Given the description of an element on the screen output the (x, y) to click on. 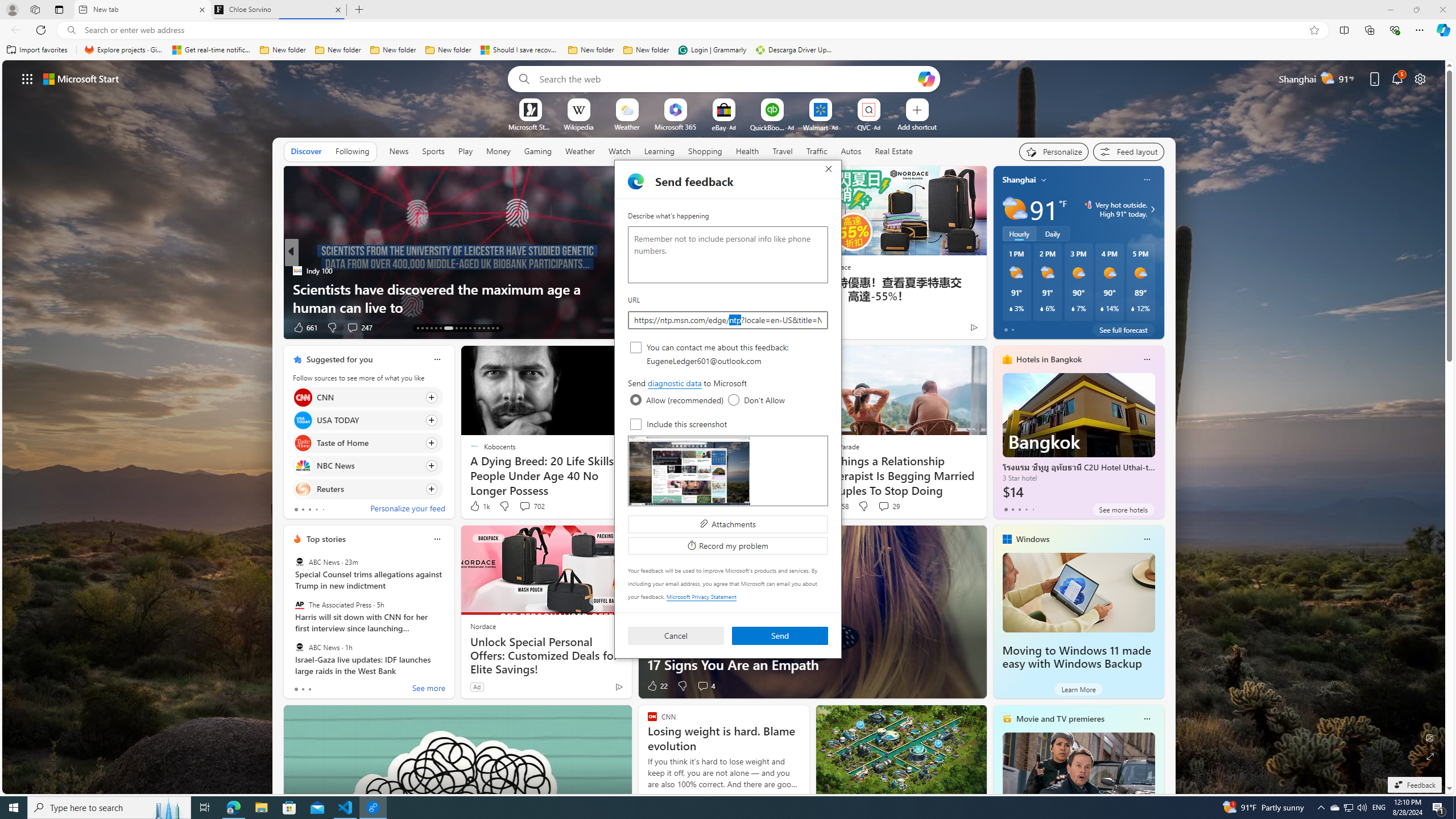
Q2790: 100% (1361, 807)
Click to follow source NBC News (367, 465)
hotels-header-icon (1006, 358)
New folder (646, 49)
Weather (1333, 807)
Learning (580, 151)
